Given the description of an element on the screen output the (x, y) to click on. 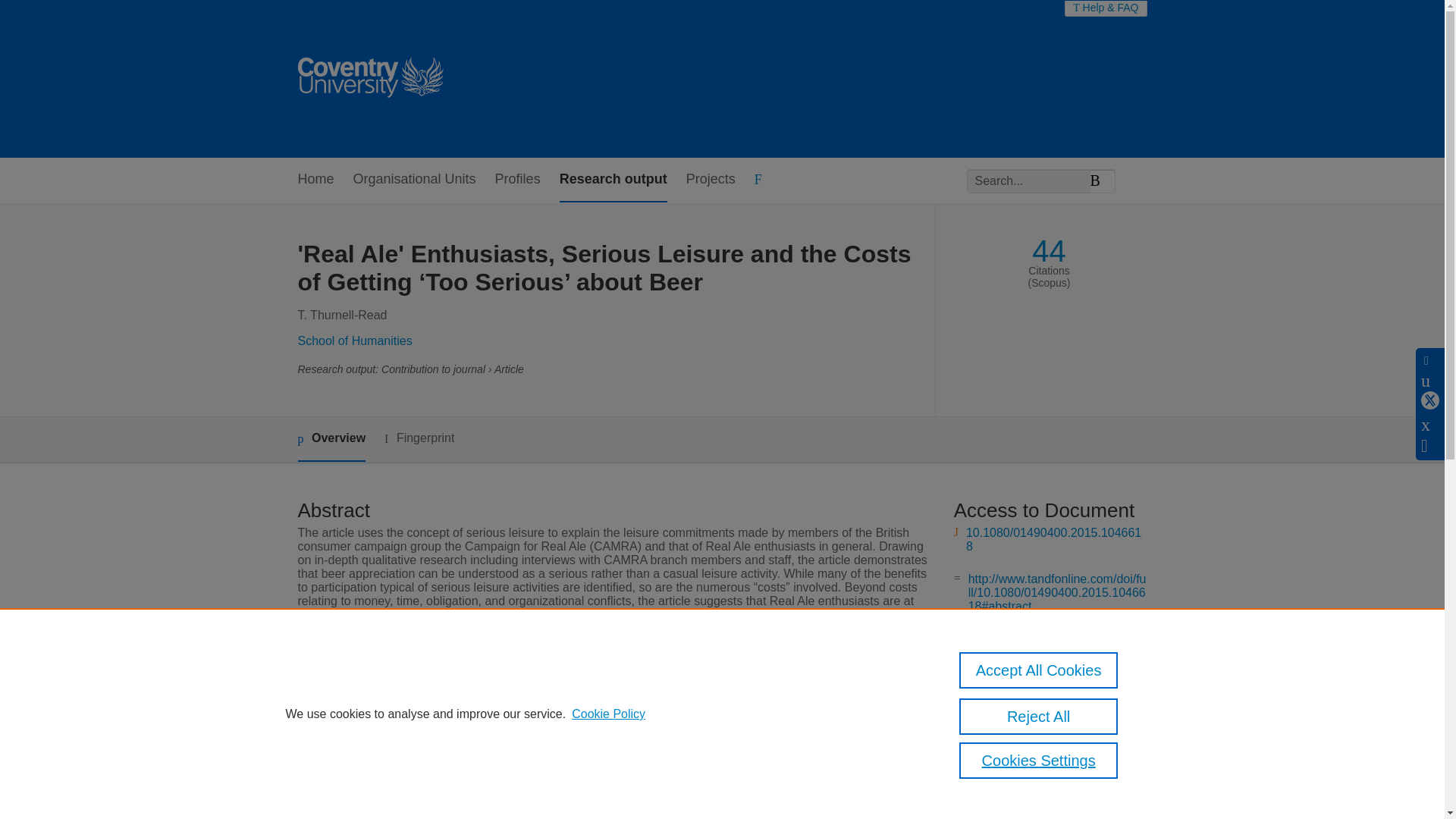
Projects (710, 180)
Profiles (517, 180)
Fingerprint (419, 438)
Research output (612, 180)
44 (1048, 251)
Coventry University Home (369, 78)
Organisational Units (414, 180)
Leisure Sciences (556, 697)
School of Humanities (354, 340)
